Given the description of an element on the screen output the (x, y) to click on. 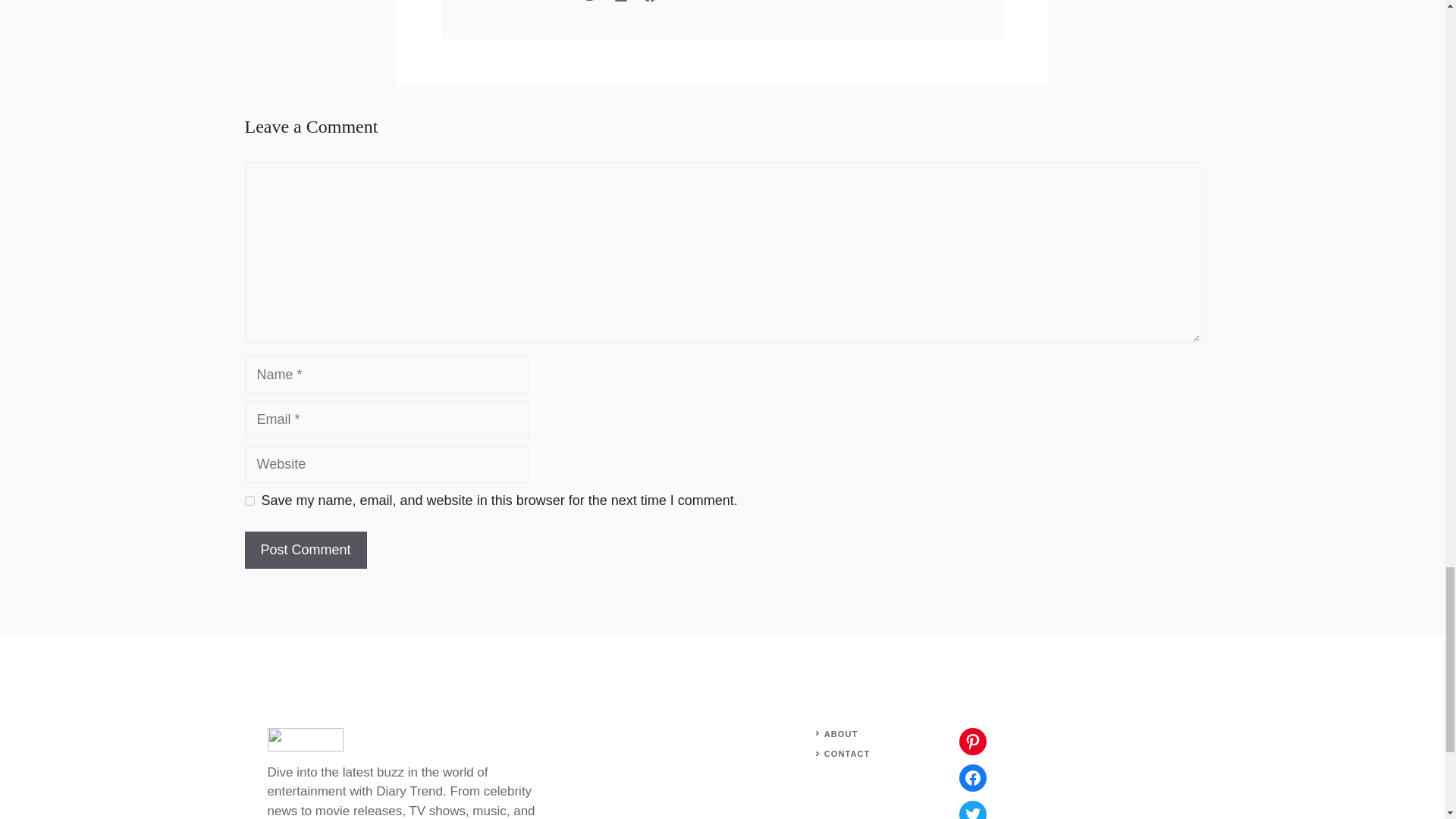
Twitter (971, 809)
Post Comment (305, 549)
yes (248, 501)
Post Comment (305, 549)
CONTACT (847, 753)
ABOUT (841, 733)
Facebook (971, 777)
Pinterest (971, 741)
